Given the description of an element on the screen output the (x, y) to click on. 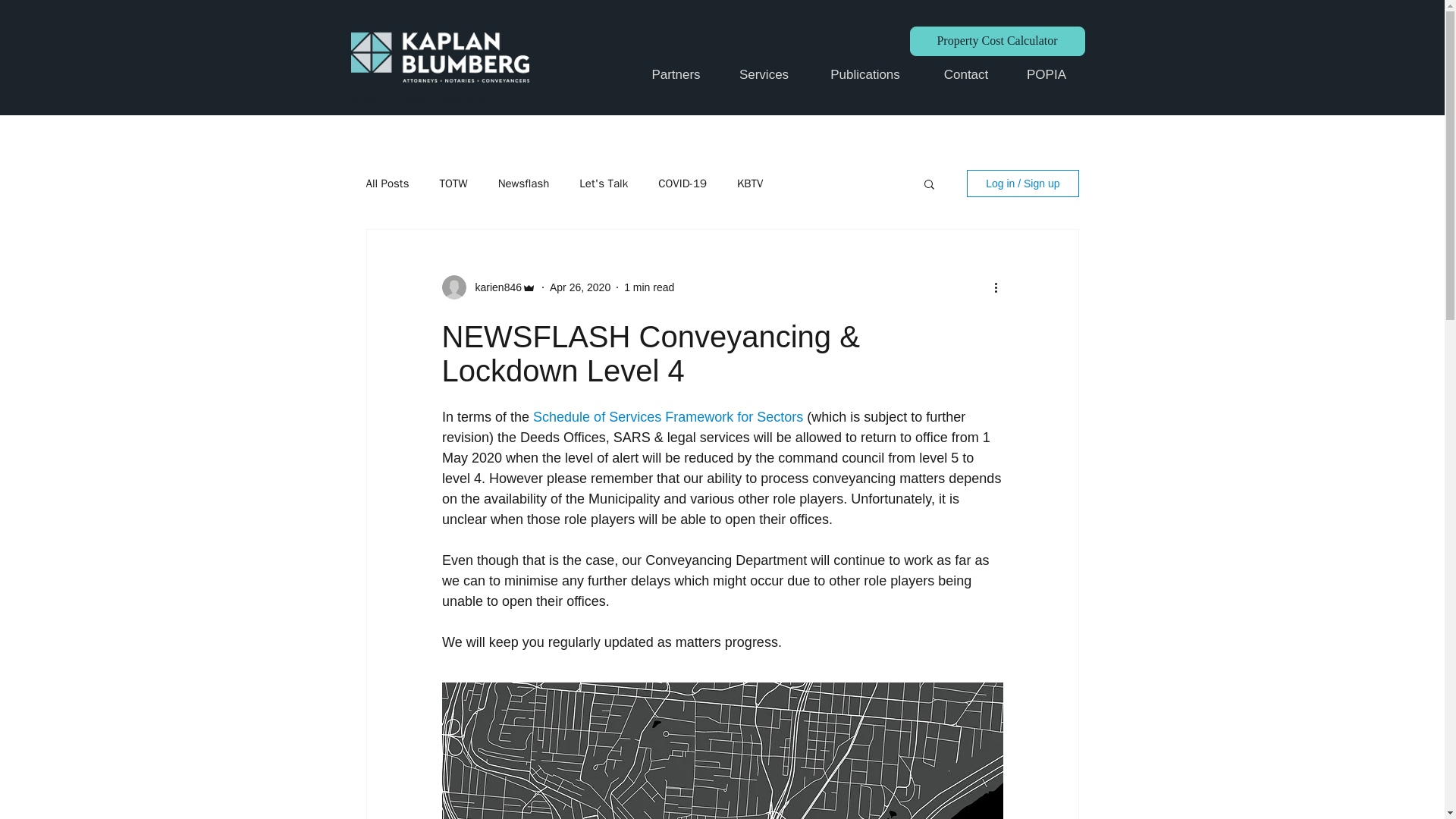
Newsflash (523, 183)
COVID-19 (682, 183)
KBTV (749, 183)
Services (763, 75)
POPIA (1046, 75)
Let's Talk (603, 183)
Contact (966, 75)
All Posts (387, 183)
Publications (864, 75)
1 min read (649, 286)
